Given the description of an element on the screen output the (x, y) to click on. 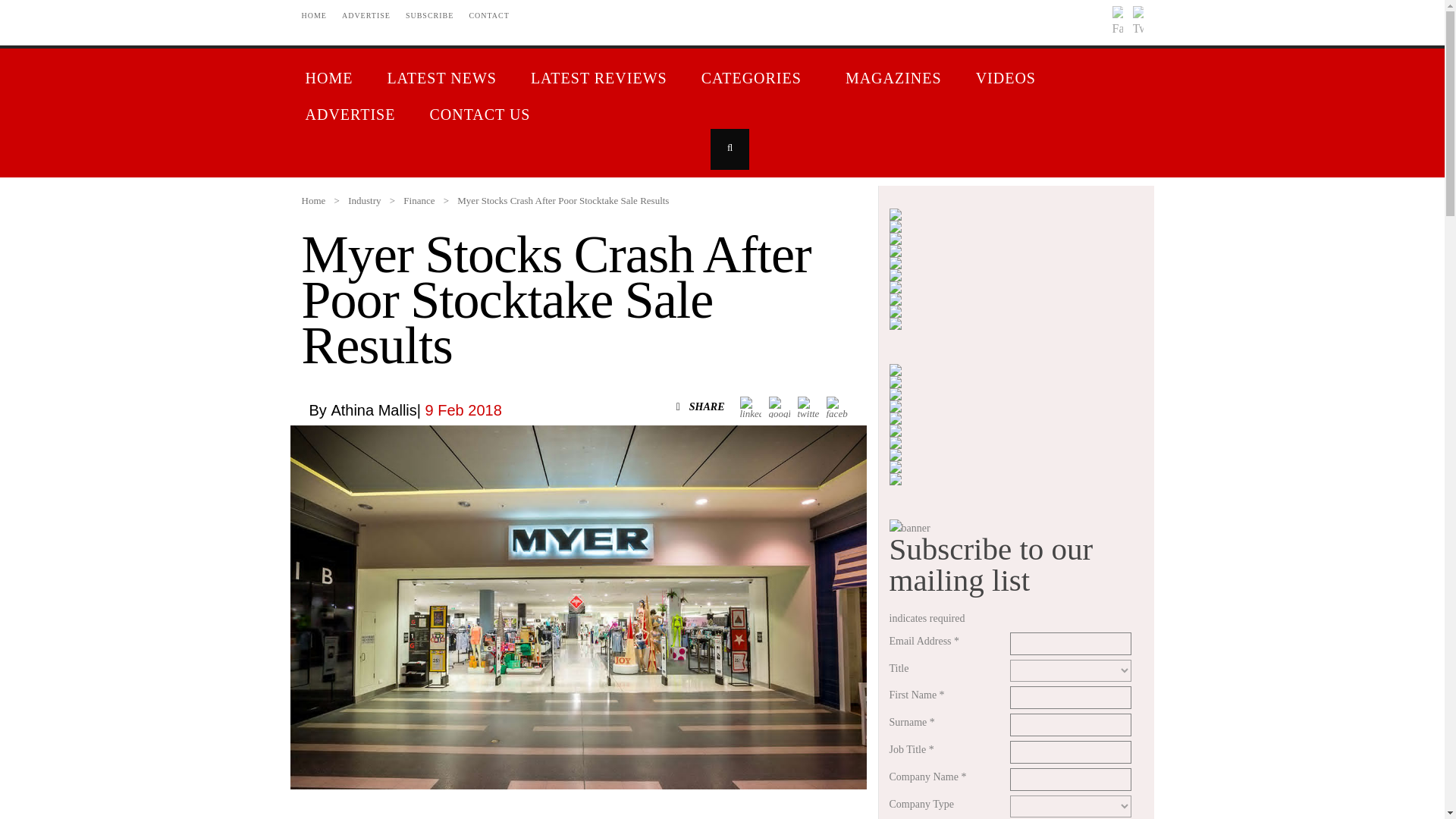
Posts by Athina Mallis (373, 409)
LATEST REVIEWS (600, 80)
LATEST NEWS (443, 80)
SUBSCRIBE (429, 15)
HOME (330, 80)
HOME (313, 15)
ADVERTISE (366, 15)
CATEGORIES (757, 80)
CONTACT (488, 15)
